Given the description of an element on the screen output the (x, y) to click on. 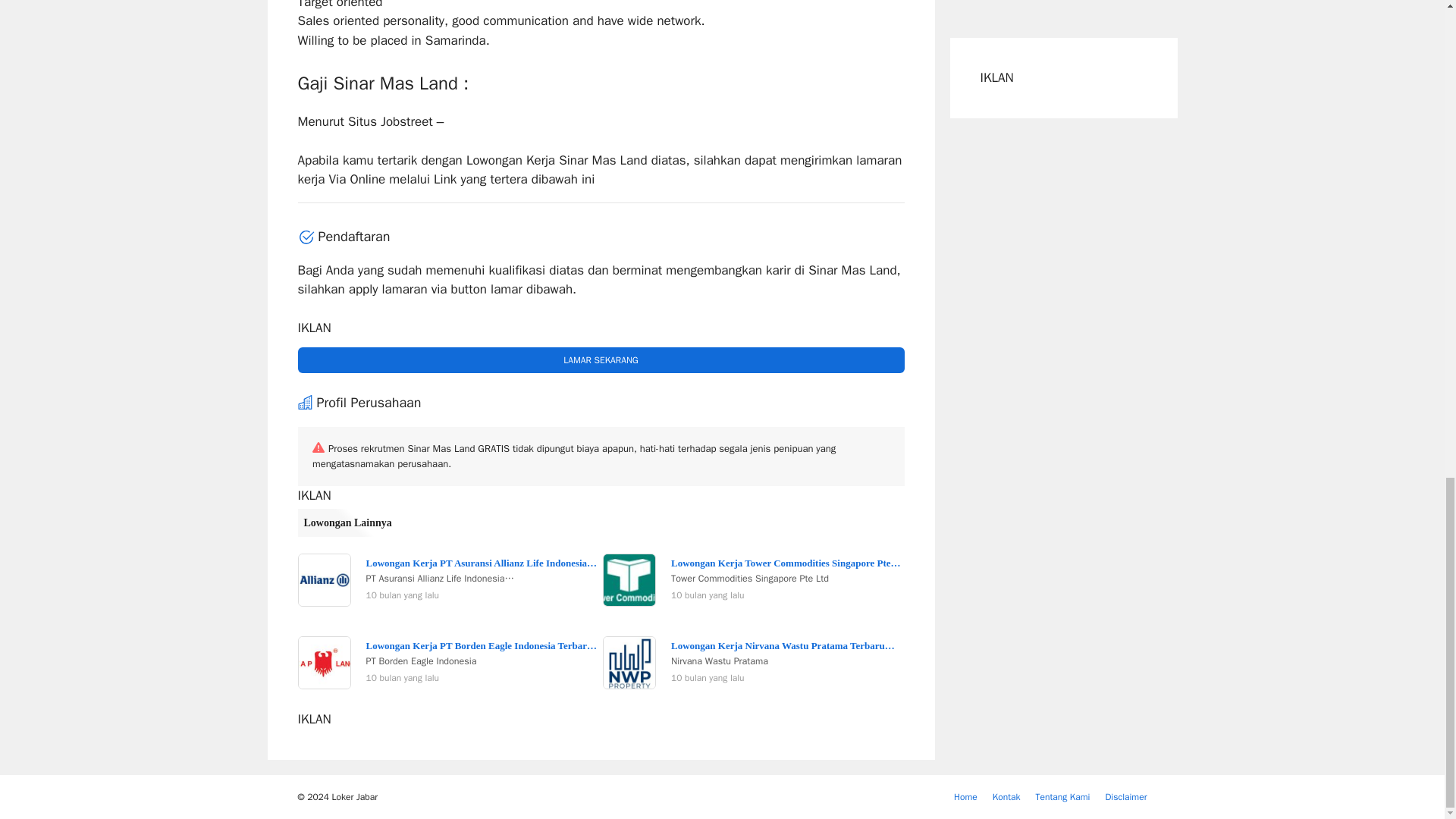
Kontak (1006, 797)
Home (964, 797)
Lowongan Kerja Nirvana Wastu Pratama Terbaru 2023 (787, 645)
Lowongan Kerja PT Borden Eagle Indonesia Terbaru 2023 (481, 645)
Disclaimer (1126, 797)
Tentang Kami (1062, 797)
LAMAR SEKARANG (600, 360)
LAMAR SEKARANG (600, 360)
